Given the description of an element on the screen output the (x, y) to click on. 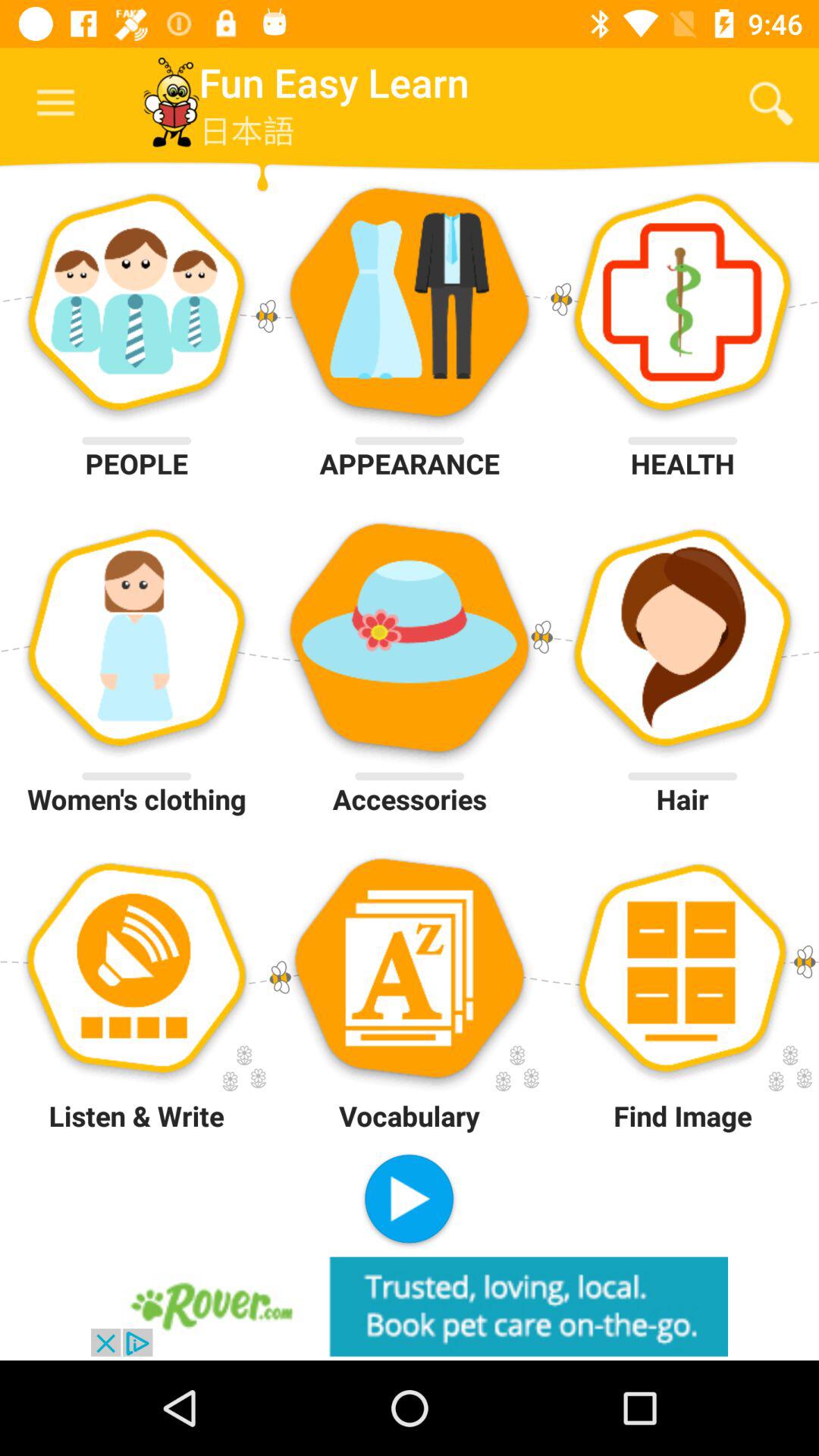
click the item next to listen & write icon (408, 1200)
